Given the description of an element on the screen output the (x, y) to click on. 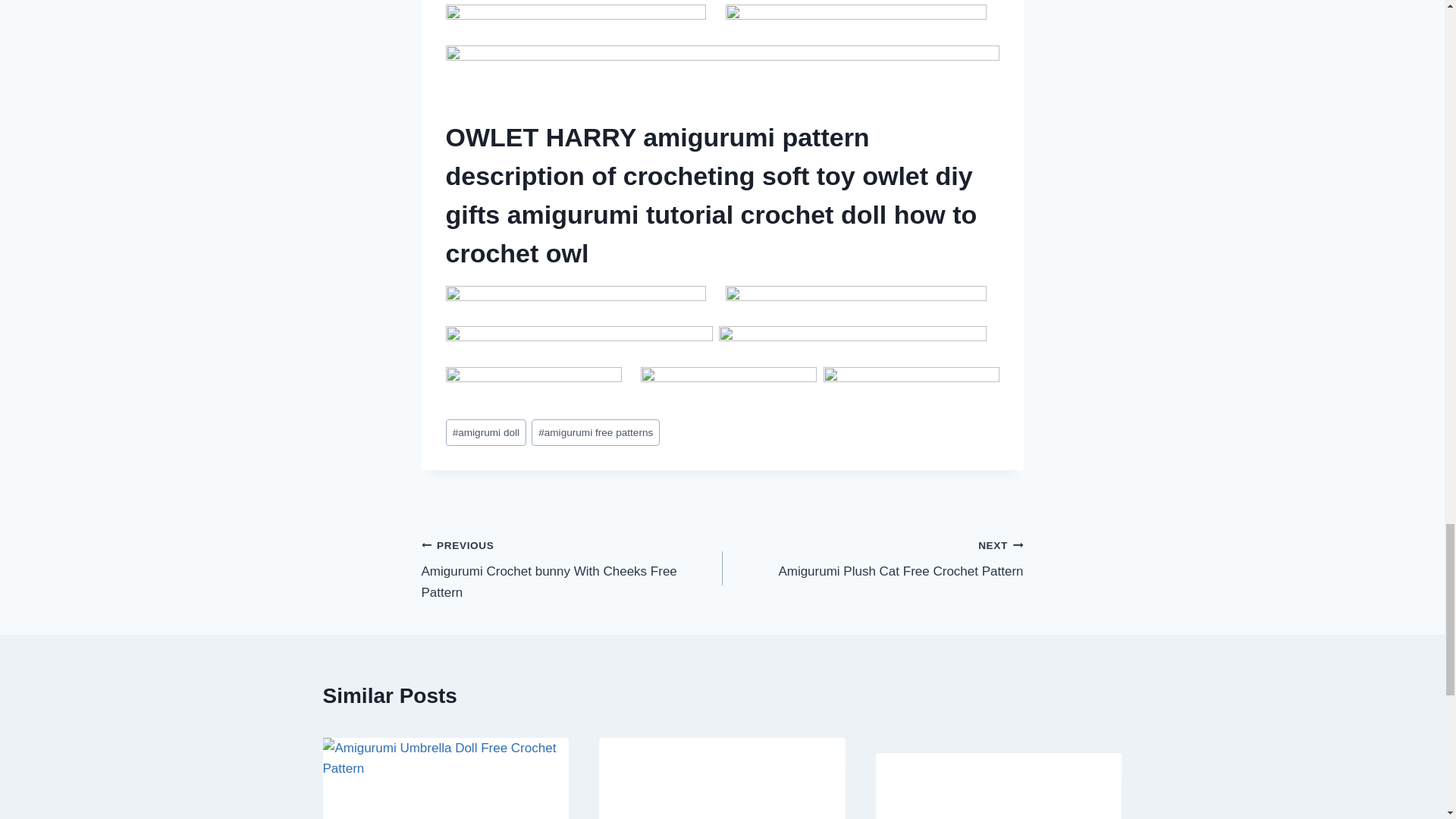
amigurumi free patterns (595, 432)
amigrumi doll (486, 432)
